Given the description of an element on the screen output the (x, y) to click on. 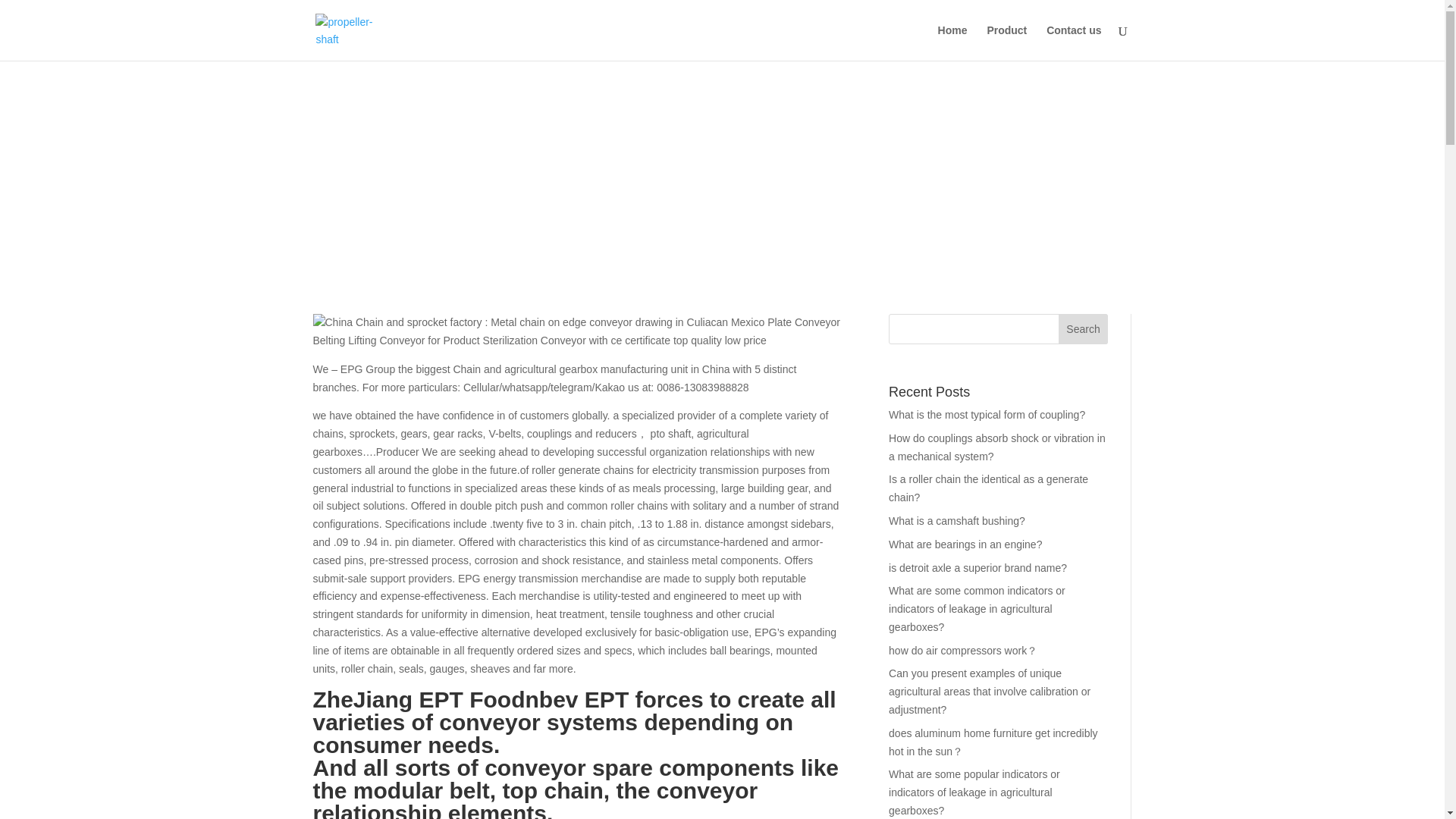
Contact us (1073, 42)
Search (1083, 328)
Product (1006, 42)
